Given the description of an element on the screen output the (x, y) to click on. 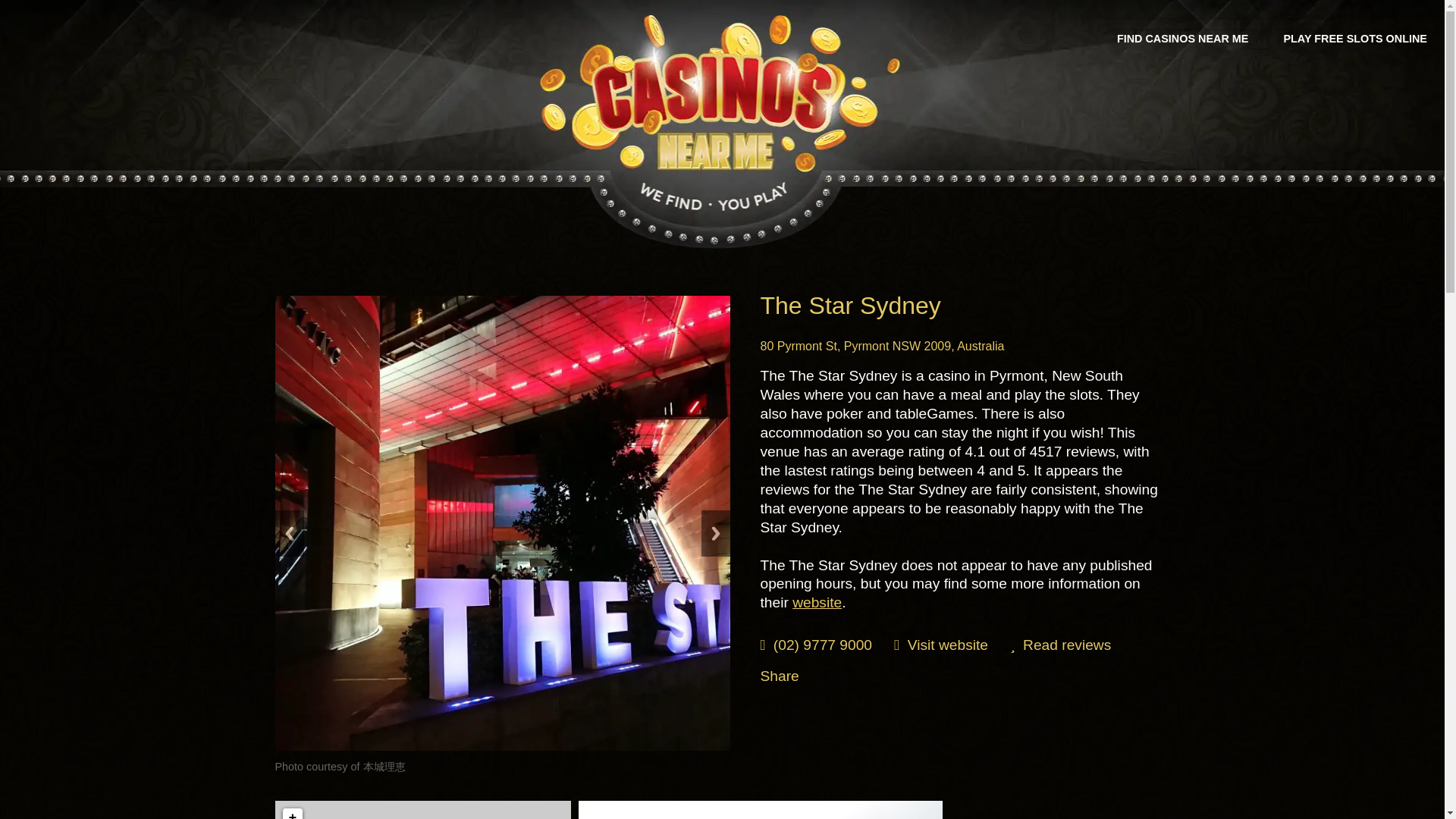
FIND CASINOS NEAR ME (1182, 38)
Play free slots online (1354, 38)
Zoom in (291, 813)
Find Casinos Me (721, 102)
Share (778, 675)
website (816, 602)
Visit website (947, 644)
PLAY FREE SLOTS ONLINE (1354, 38)
Casinos Near Me (1182, 38)
